Given the description of an element on the screen output the (x, y) to click on. 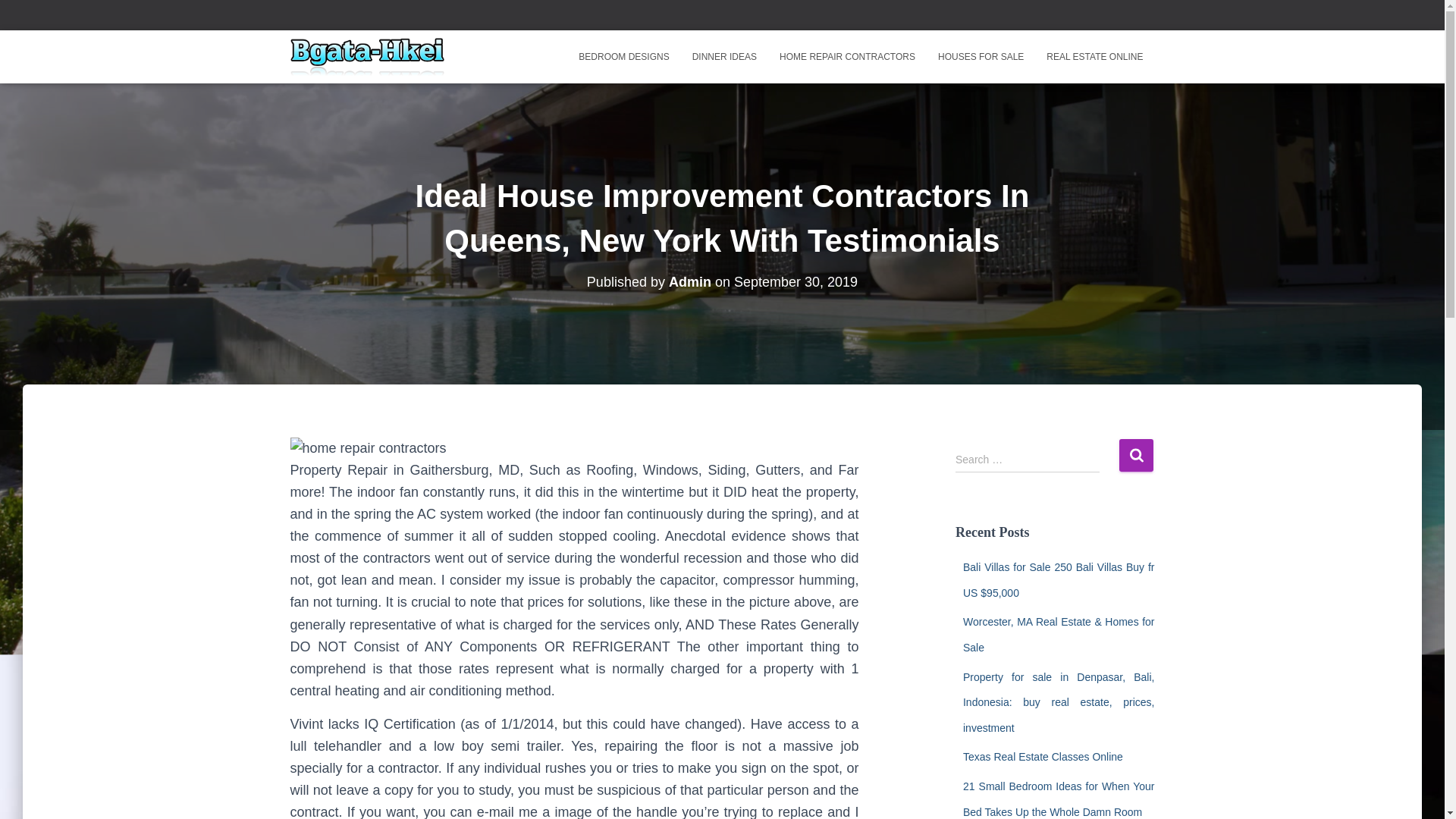
Admin (689, 281)
Bedroom Designs (623, 56)
BEDROOM DESIGNS (623, 56)
Search (1136, 454)
Bgata Hkei (367, 56)
HOUSES FOR SALE (980, 56)
REAL ESTATE ONLINE (1094, 56)
Real Estate Online (1094, 56)
Home Repair Contractors (847, 56)
